Given the description of an element on the screen output the (x, y) to click on. 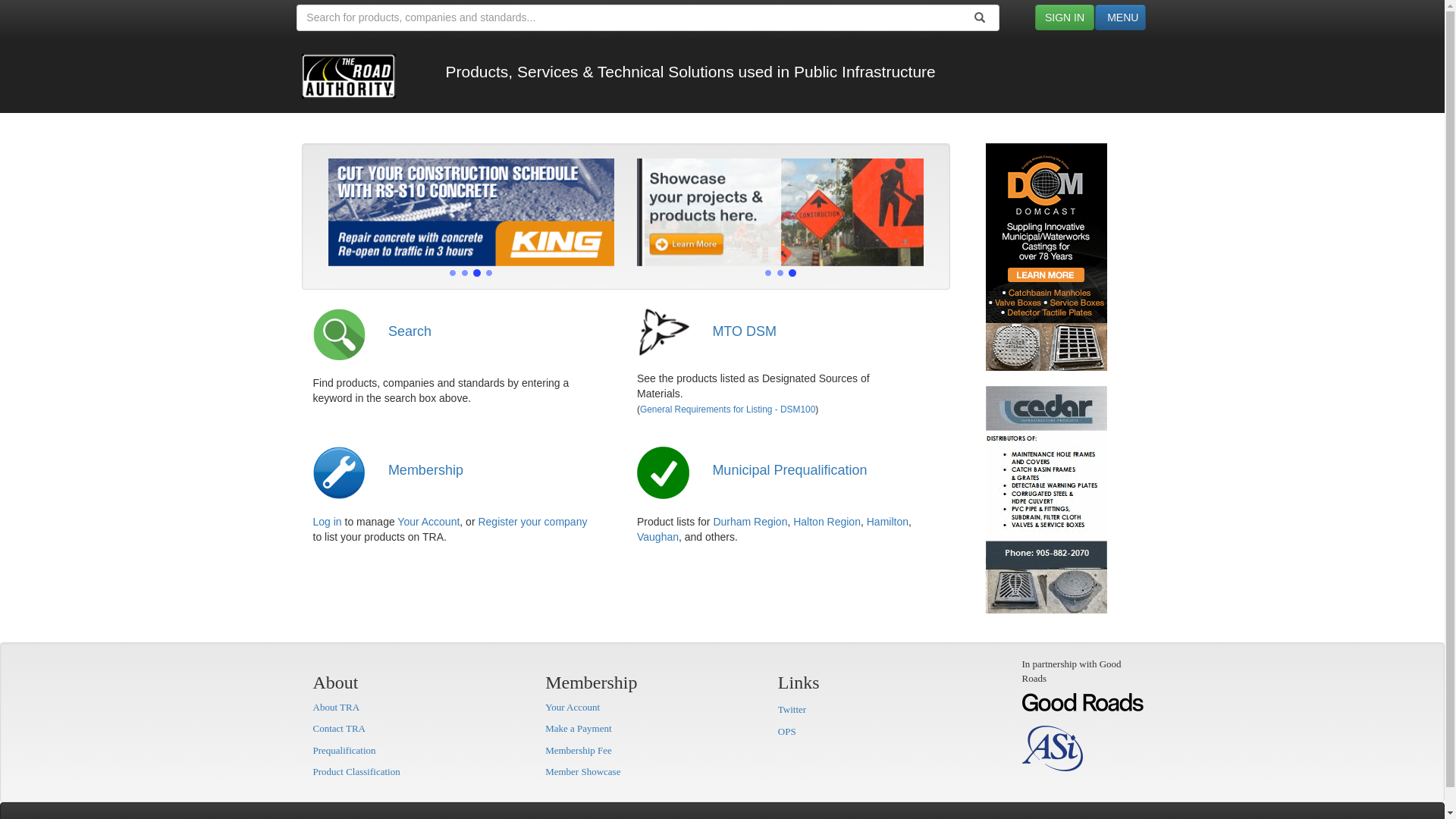
Municipal Prequalification Element type: text (789, 469)
SIGN IN Element type: text (1064, 17)
Membership Fee Element type: text (578, 750)
Membership Element type: text (425, 469)
Durham Region Element type: text (749, 521)
MENU Element type: text (1120, 17)
Product Classification Element type: text (355, 771)
Prequalification Element type: text (343, 750)
Contact TRA Element type: text (338, 728)
Vaughan Element type: text (657, 536)
General Requirements for Listing - DSM100 Element type: text (727, 409)
Log in Element type: text (326, 521)
Halton Region Element type: text (826, 521)
Hamilton Element type: text (887, 521)
About TRA Element type: text (335, 706)
Twitter Element type: text (792, 709)
Search Element type: text (409, 330)
Your Account Element type: text (428, 521)
OPS Element type: text (787, 731)
Member Showcase Element type: text (582, 771)
MTO DSM Element type: text (744, 330)
Your Account Element type: text (572, 706)
Register your company Element type: text (531, 521)
Make a Payment Element type: text (578, 728)
